Given the description of an element on the screen output the (x, y) to click on. 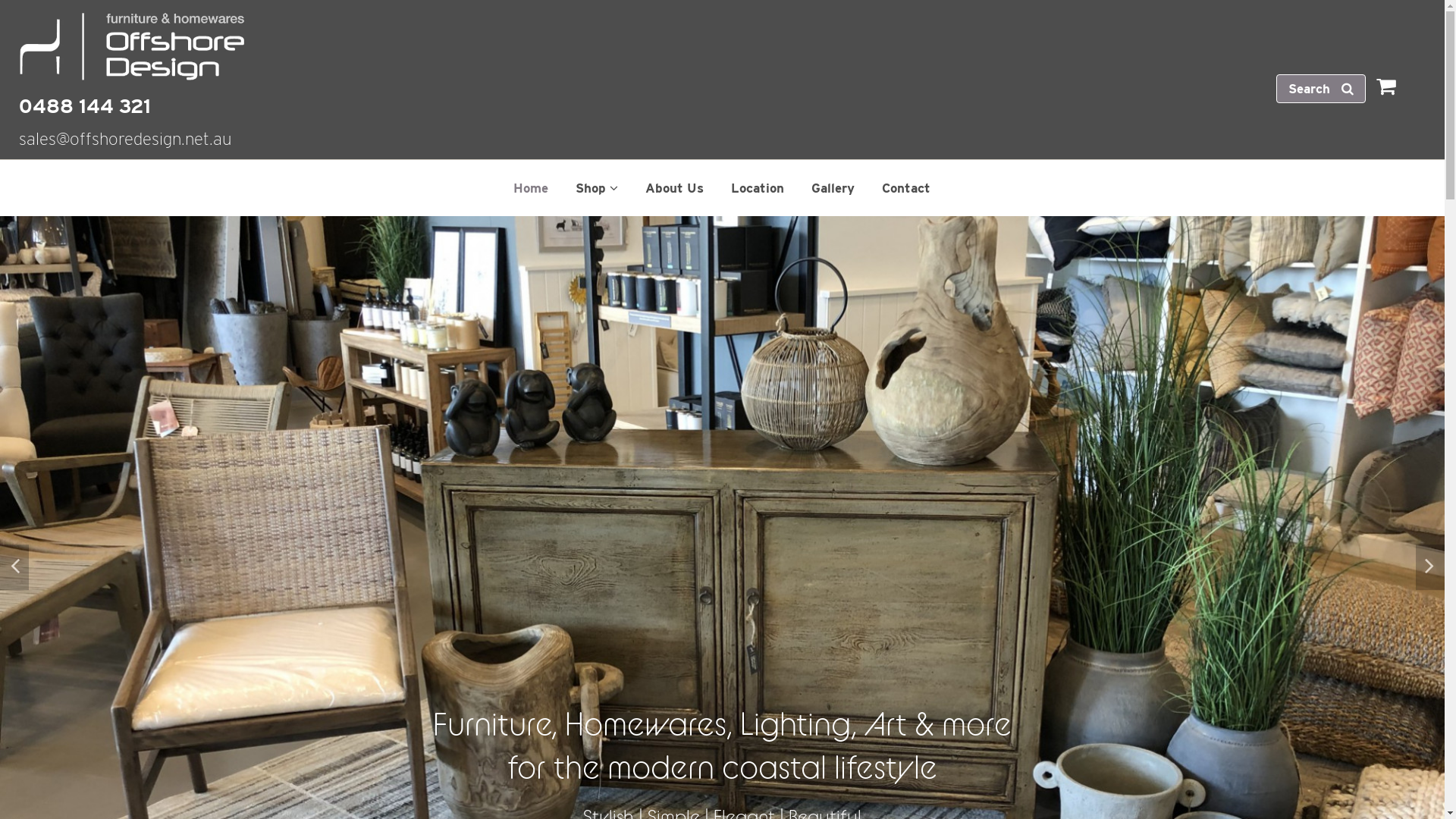
Location Element type: text (756, 188)
Contact Element type: text (905, 188)
About Us Element type: text (674, 188)
Home Element type: text (530, 188)
Search   Element type: text (1320, 88)
Shop Element type: text (596, 188)
0488 144 321 Element type: text (722, 109)
sales@offshoredesign.net.au Element type: text (125, 143)
Gallery Element type: text (832, 188)
